Given the description of an element on the screen output the (x, y) to click on. 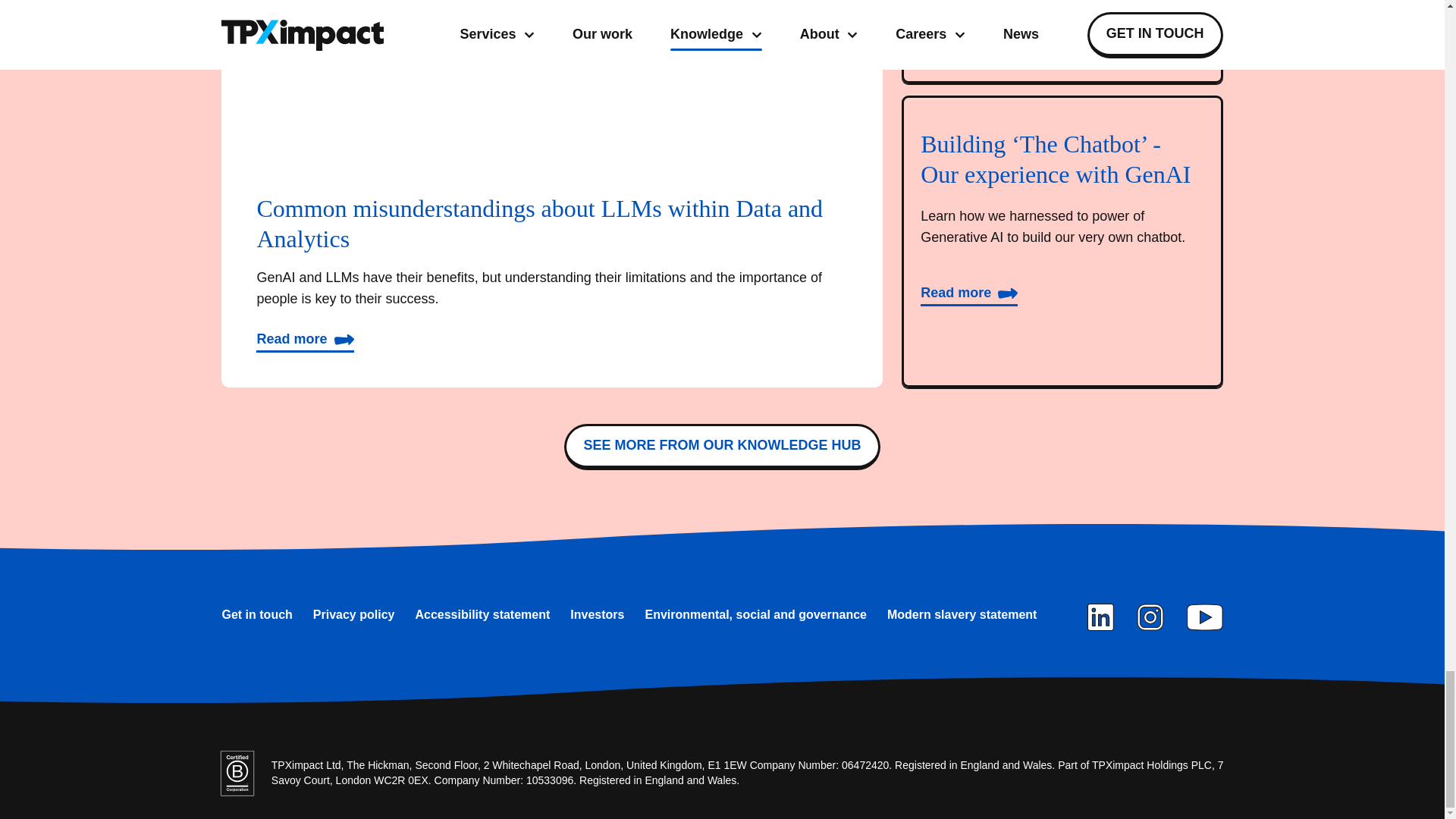
Investors (597, 614)
Get in touch (256, 614)
Get in touch (256, 614)
SEE MORE FROM OUR KNOWLEDGE HUB (721, 447)
Environmental, social and governance (755, 614)
Privacy policy (353, 614)
Modern slavery statement (961, 614)
Accessibility statement (482, 614)
Accessibility statement (482, 614)
